Given the description of an element on the screen output the (x, y) to click on. 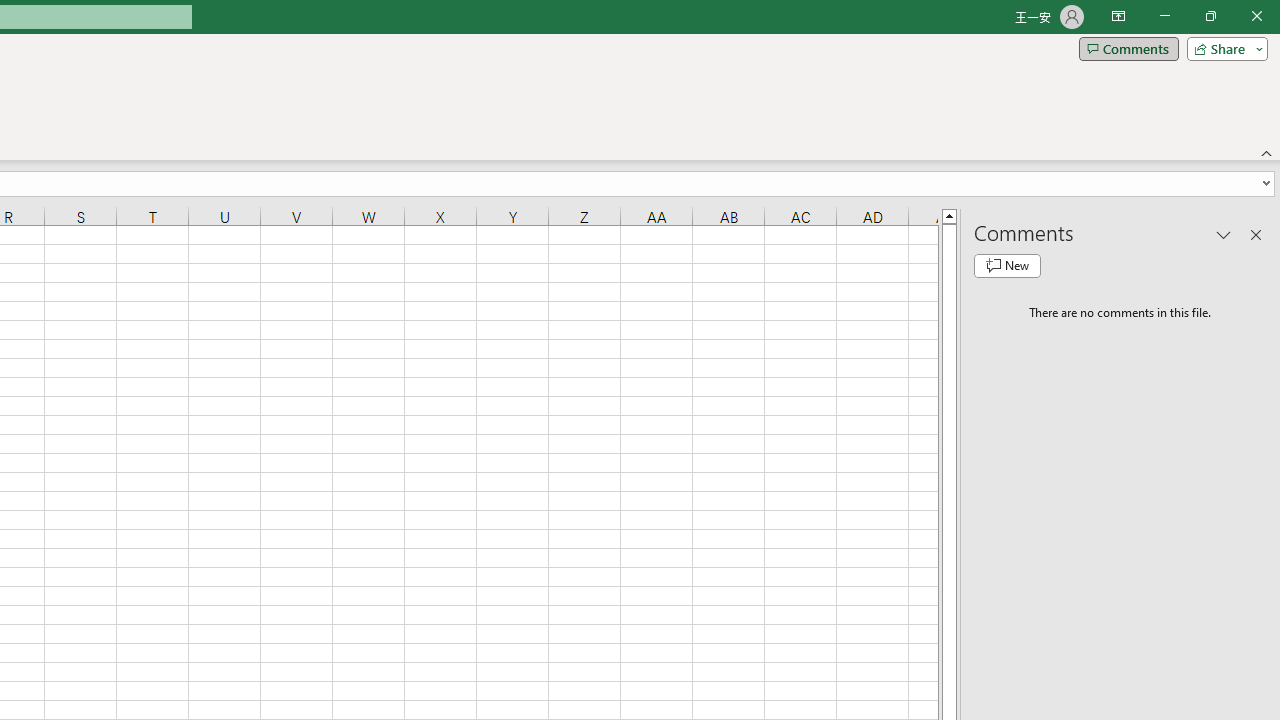
Close pane (1256, 234)
Share (1223, 48)
Restore Down (1210, 16)
Line up (948, 215)
Comments (1128, 48)
Ribbon Display Options (1118, 16)
Task Pane Options (1224, 234)
Minimize (1164, 16)
New comment (1007, 265)
Close (1256, 16)
Collapse the Ribbon (1267, 152)
